Given the description of an element on the screen output the (x, y) to click on. 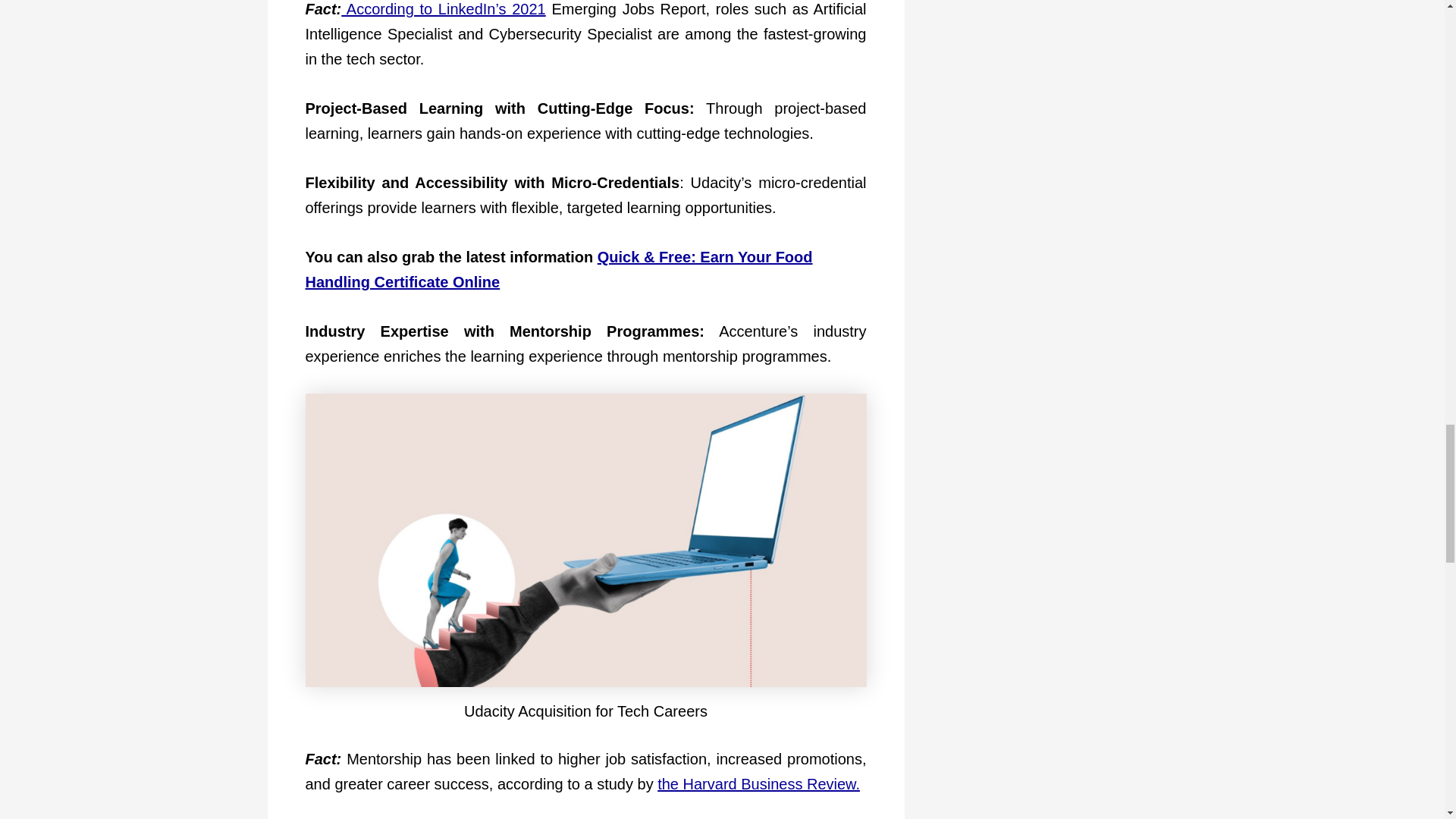
the Harvard Business Review. (759, 783)
